Given the description of an element on the screen output the (x, y) to click on. 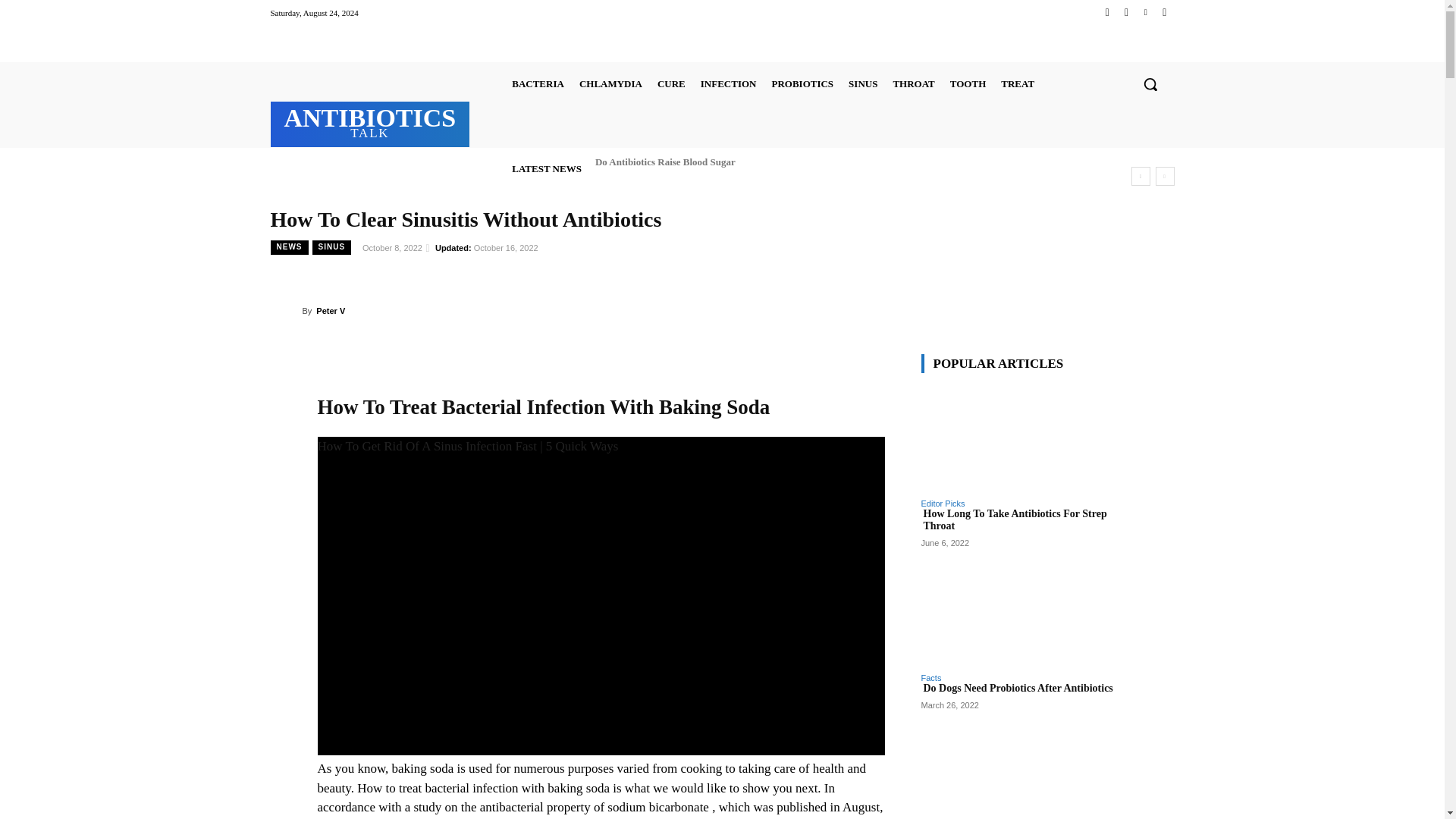
BACTERIA (537, 83)
Facebook (1106, 12)
CHLAMYDIA (610, 83)
Instagram (1125, 12)
